Given the description of an element on the screen output the (x, y) to click on. 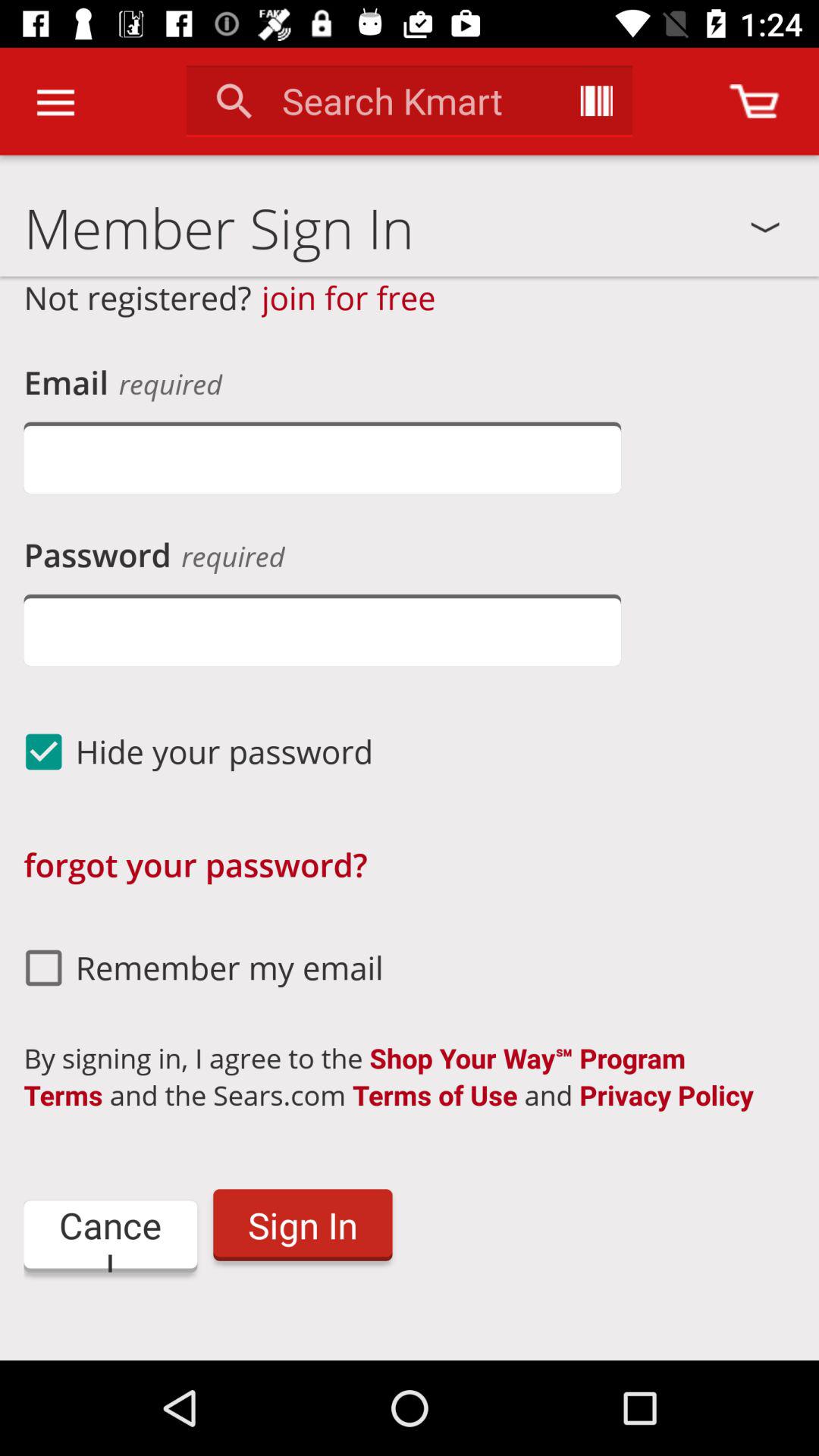
password (322, 630)
